Given the description of an element on the screen output the (x, y) to click on. 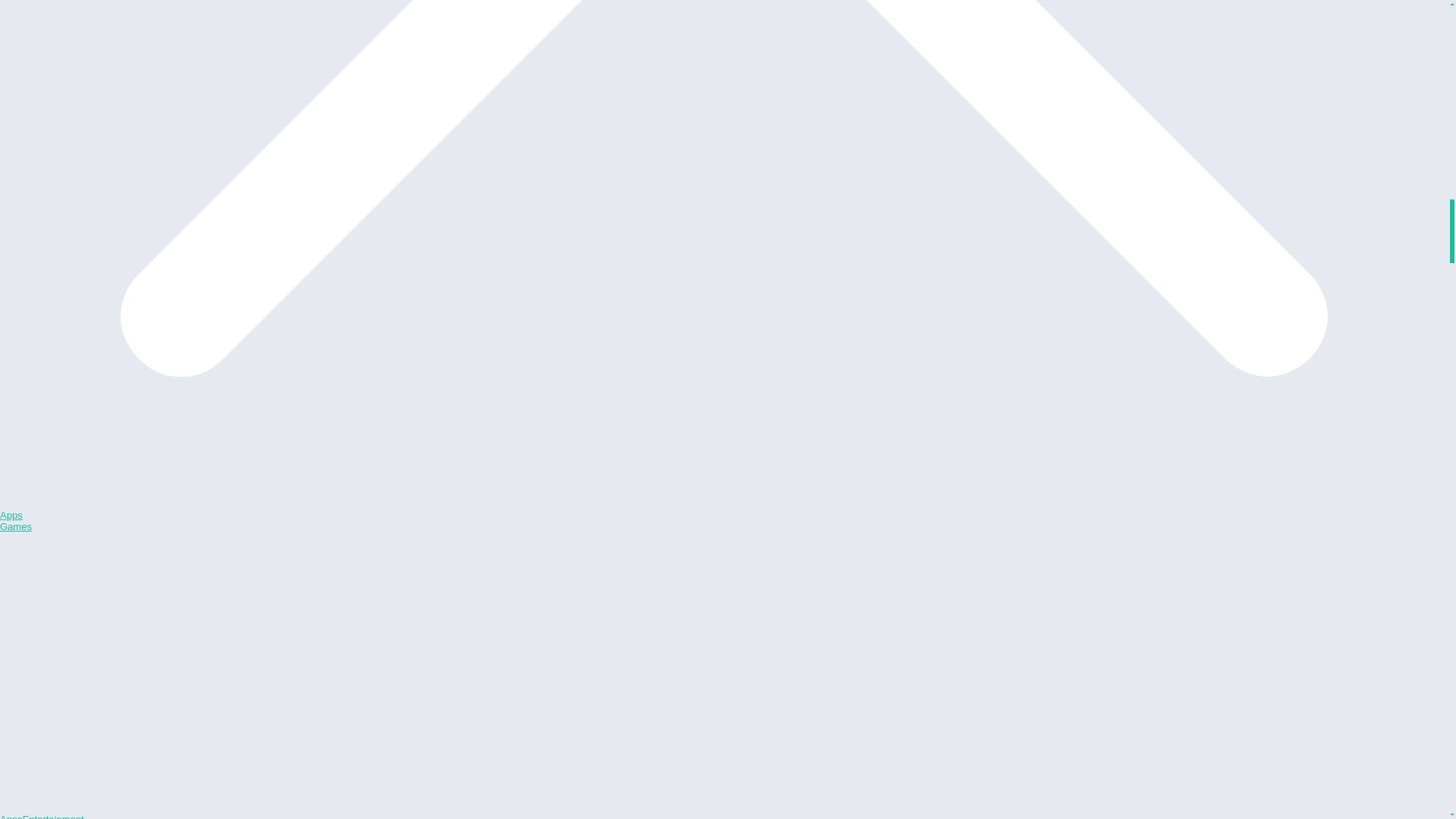
Games (16, 526)
Apps (11, 514)
Apps (11, 816)
Entertainment (53, 816)
